Given the description of an element on the screen output the (x, y) to click on. 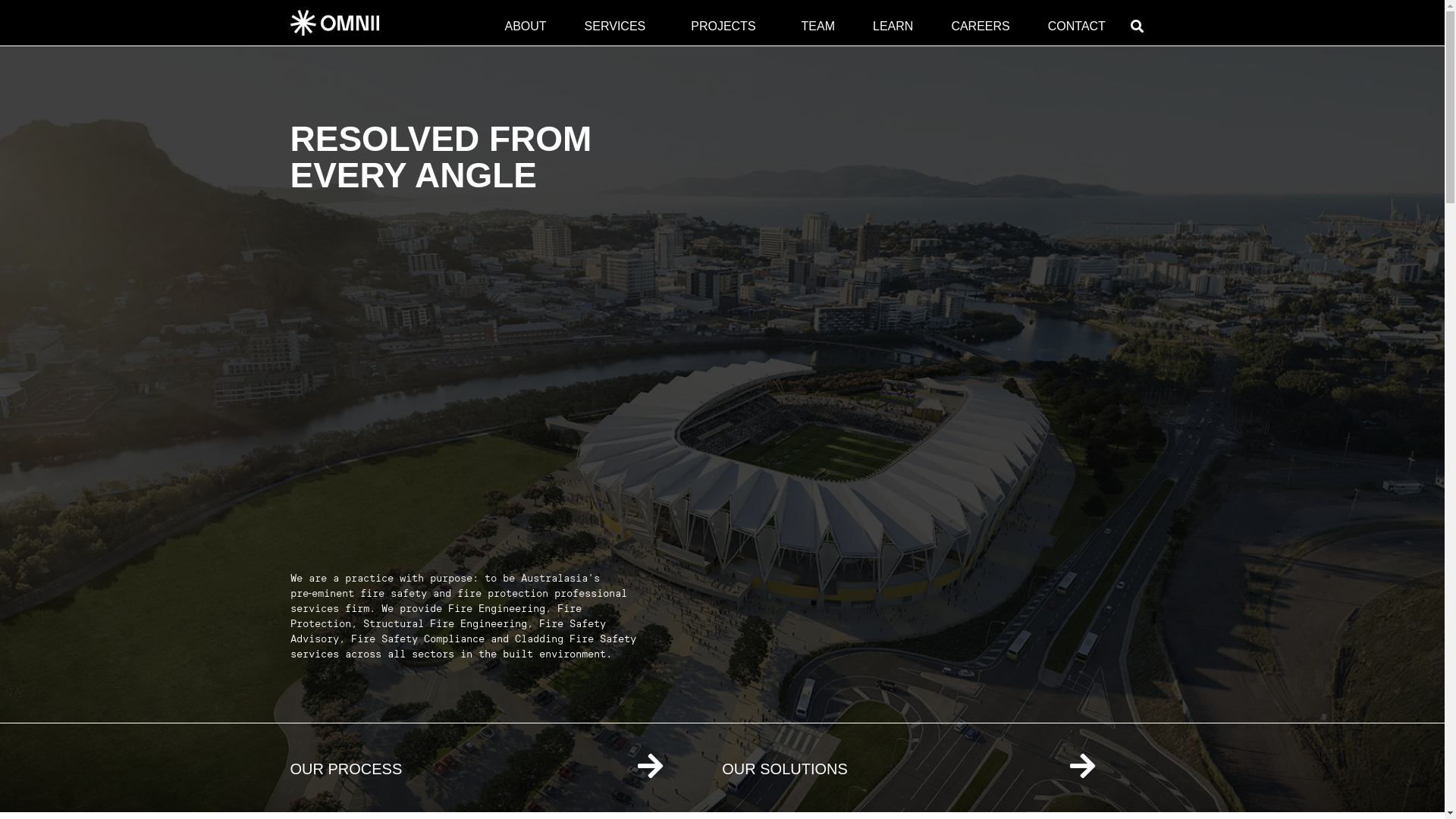
LEARN Element type: text (892, 26)
OUR PROCESS Element type: text (345, 768)
CONTACT Element type: text (1076, 26)
CAREERS Element type: text (979, 26)
PROJECTS Element type: text (726, 26)
ABOUT Element type: text (525, 26)
TEAM Element type: text (817, 26)
OUR SOLUTIONS Element type: text (784, 768)
SERVICES Element type: text (618, 26)
